Given the description of an element on the screen output the (x, y) to click on. 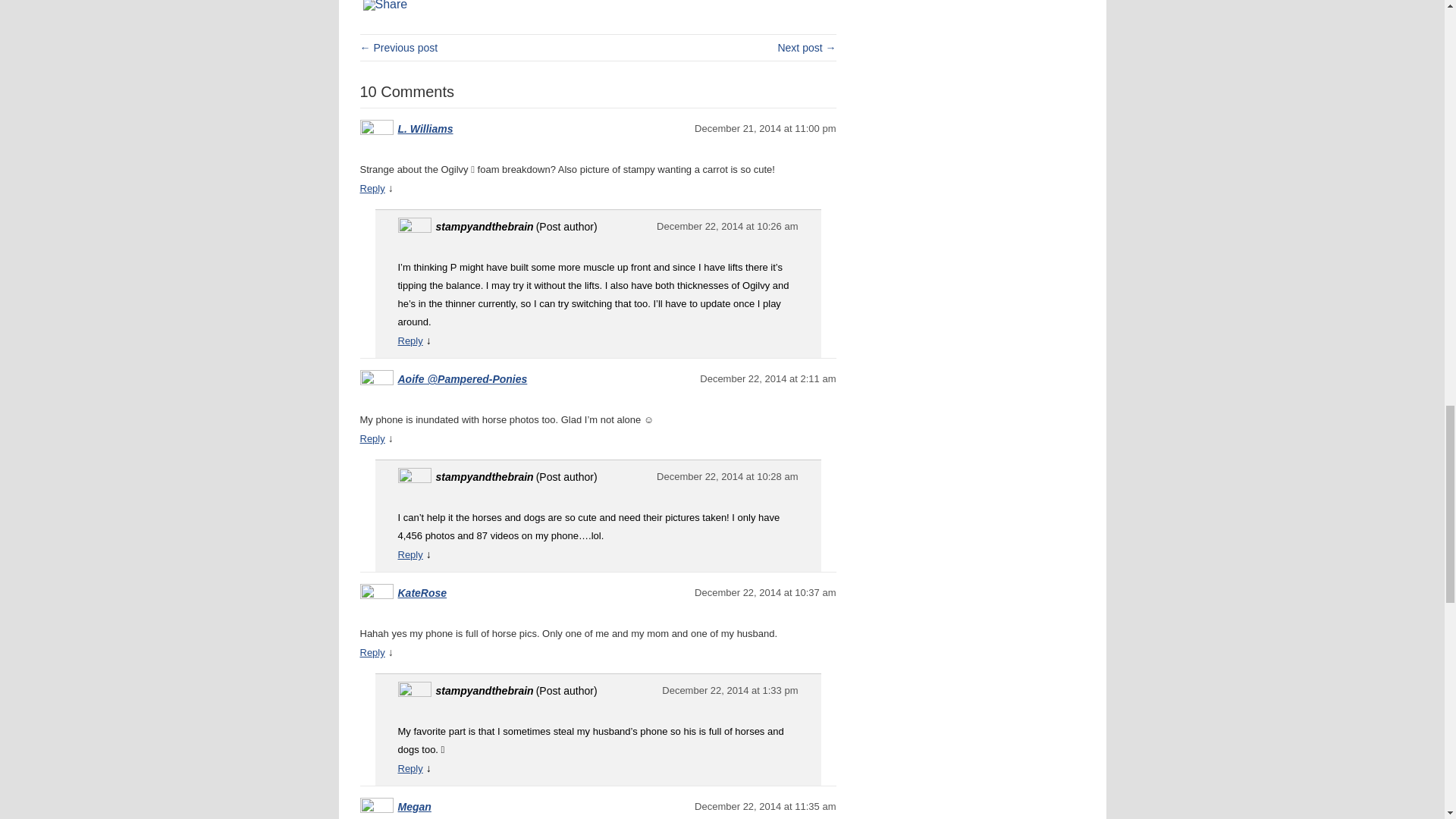
L. Williams (424, 128)
TBT - Mr. P (398, 47)
Reply (371, 438)
KateRose (421, 592)
Megan (413, 806)
Reply (409, 554)
Reply (409, 340)
TOA Blog Hop: Horse History - Stampede (806, 47)
Reply (409, 767)
Reply (371, 188)
